Given the description of an element on the screen output the (x, y) to click on. 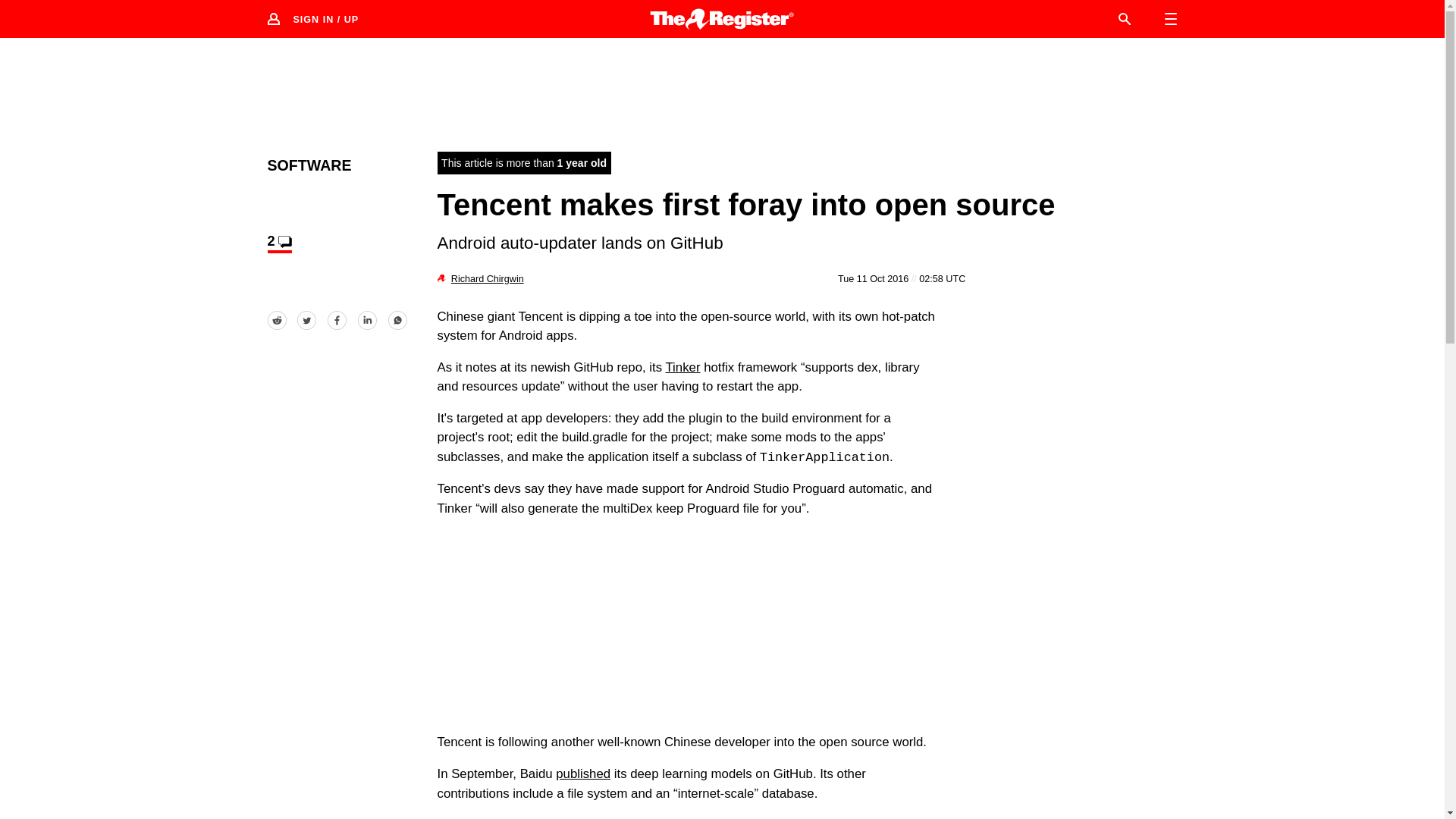
Read more by this author (487, 278)
View comments on this article (278, 243)
